Given the description of an element on the screen output the (x, y) to click on. 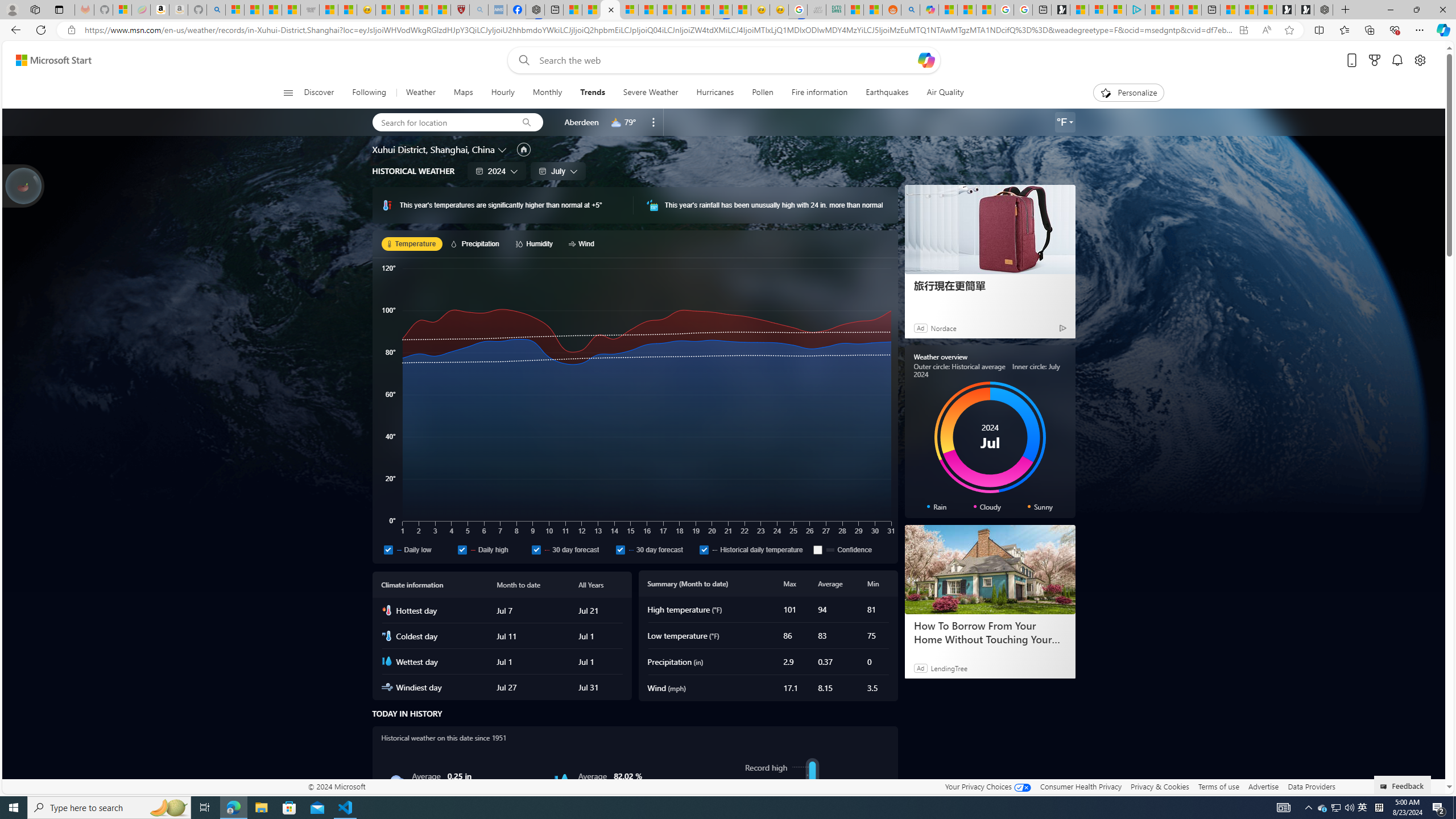
Terms of use (1218, 786)
Wind (582, 243)
14 Common Myths Debunked By Scientific Facts (684, 9)
Set as primary location (522, 149)
Hourly (502, 92)
These 3 Stocks Pay You More Than 5% to Own Them (1192, 9)
Earthquakes (886, 92)
Severe Weather (650, 92)
